Given the description of an element on the screen output the (x, y) to click on. 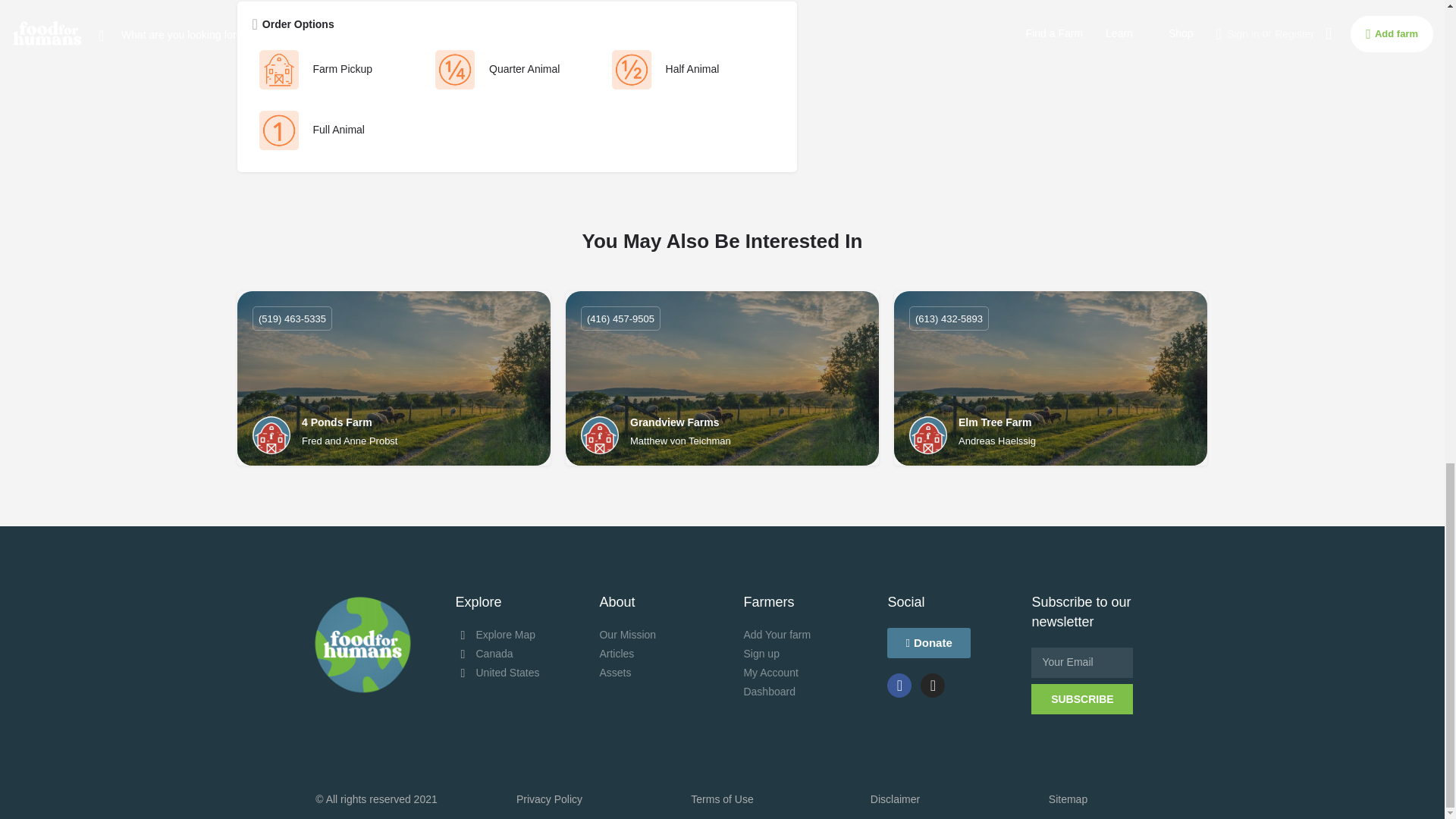
Farm Pickup (335, 69)
Quarter Animal (512, 69)
Full Animal (335, 130)
Half Animal (689, 69)
